Given the description of an element on the screen output the (x, y) to click on. 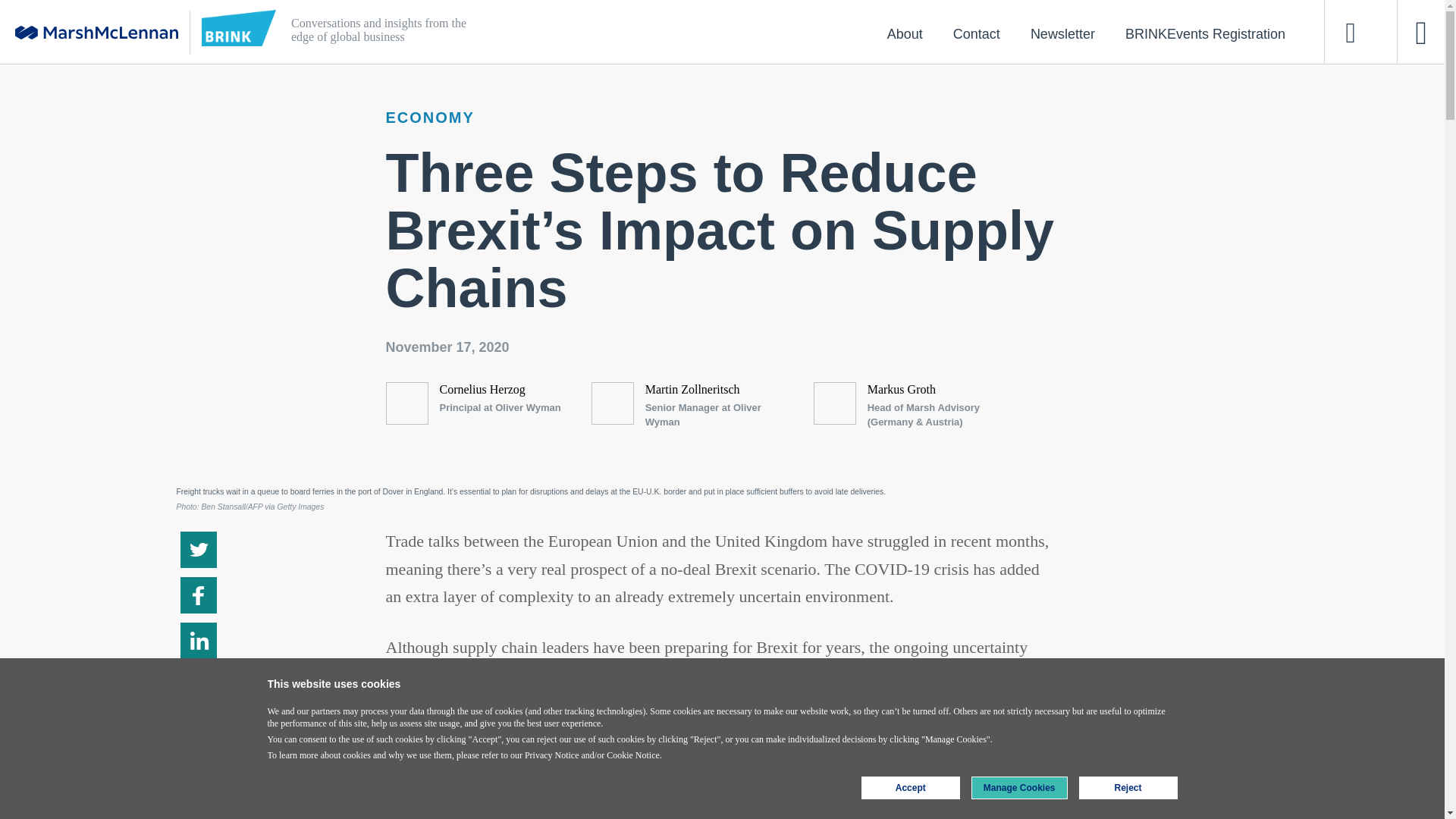
About (904, 33)
Cornelius Herzog (482, 389)
BRINKEvents Registration (1204, 33)
Markus Groth (901, 389)
ECONOMY (429, 117)
Martin Zollneritsch (692, 389)
Conversations and insights from the edge of global business (653, 32)
Newsletter (1061, 33)
Contact (975, 33)
